Given the description of an element on the screen output the (x, y) to click on. 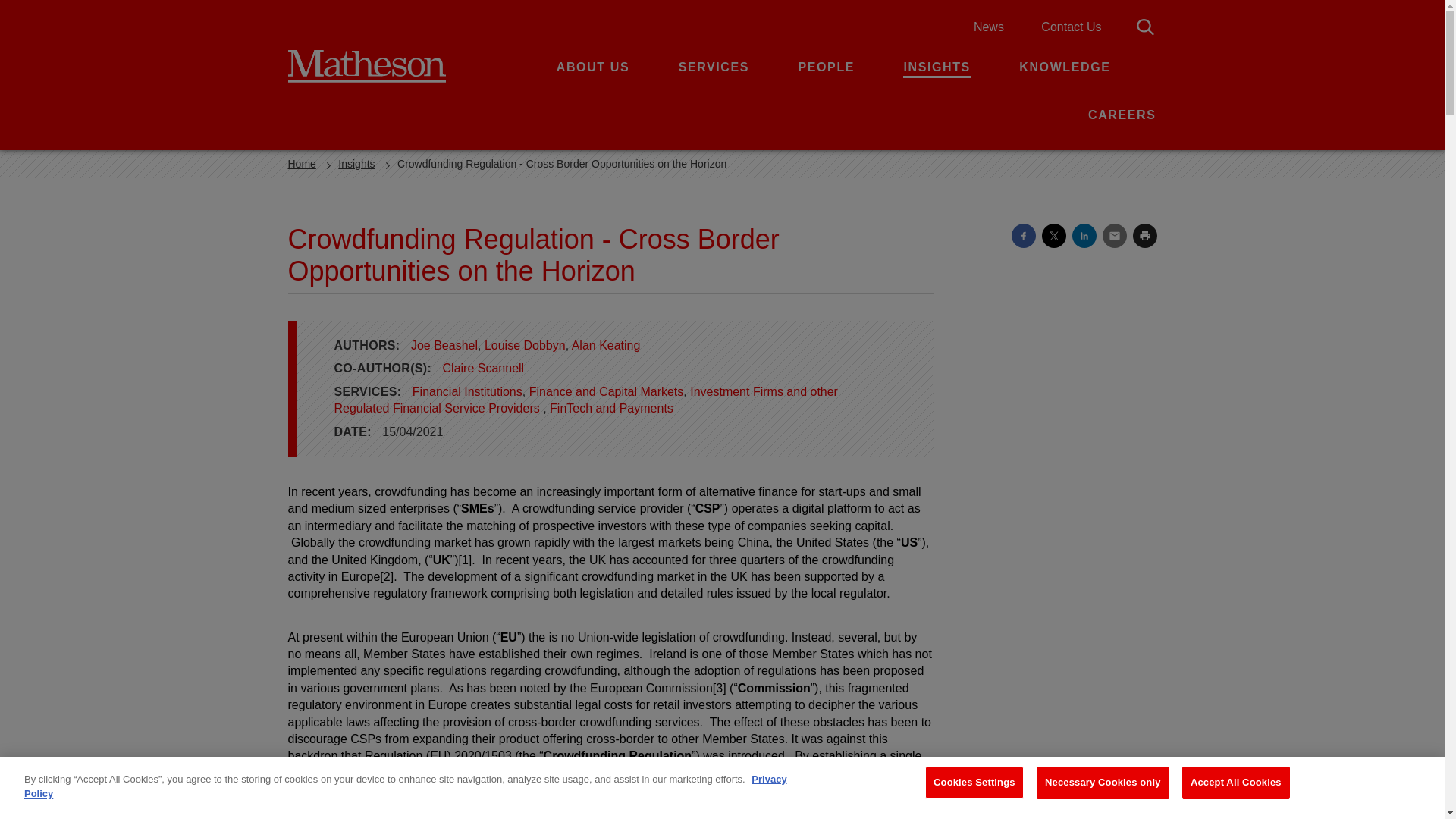
Finance and Capital Markets (606, 391)
FinTech and Payments (611, 408)
Joe Beashel (443, 345)
Alan Keating (606, 345)
INSIGHTS (935, 66)
Search input (990, 27)
Claire Scannell (483, 367)
Home (301, 163)
Matheson Logo (387, 65)
Insights (355, 163)
